Given the description of an element on the screen output the (x, y) to click on. 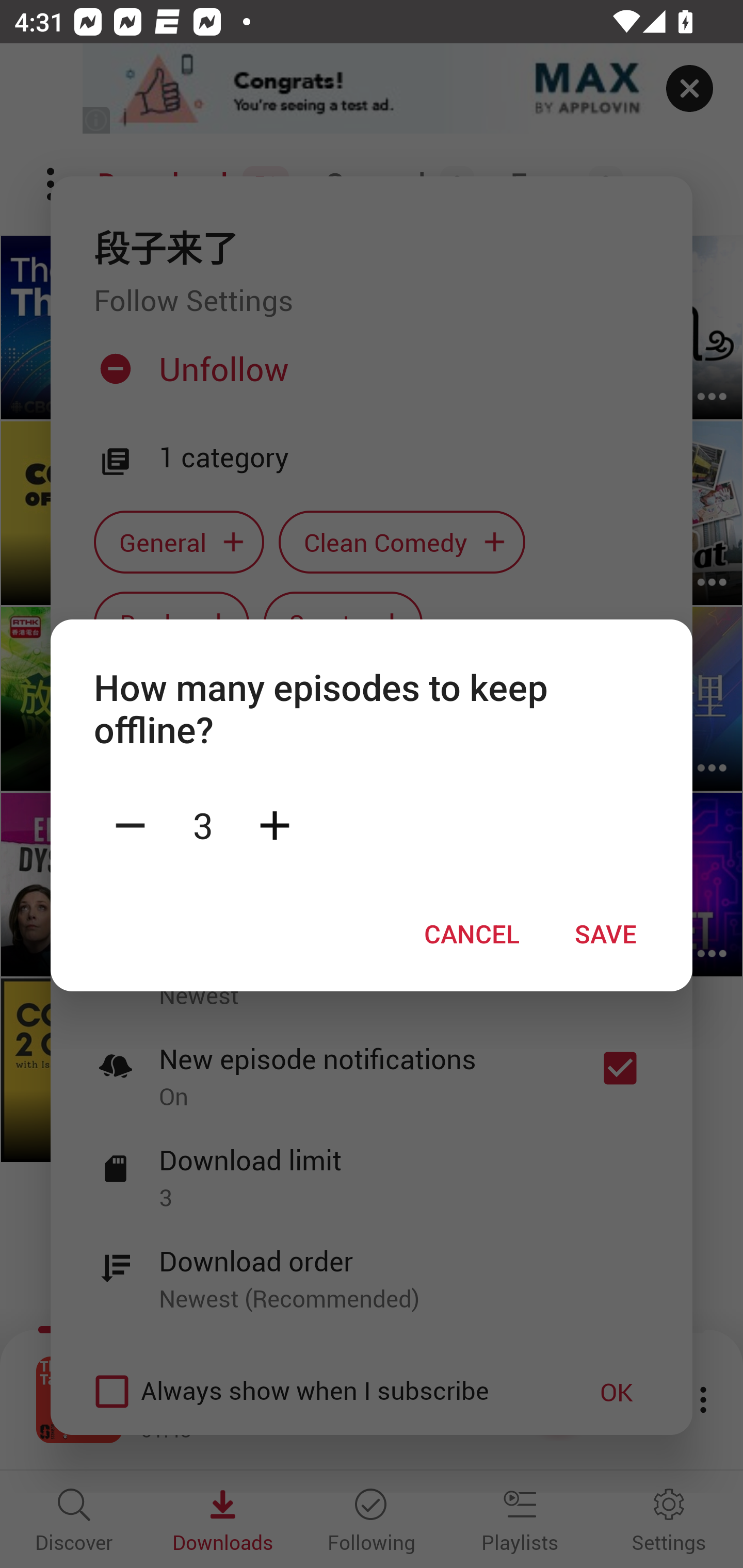
Minus (129, 824)
Plus (274, 824)
CANCEL (470, 933)
SAVE (605, 933)
